Given the description of an element on the screen output the (x, y) to click on. 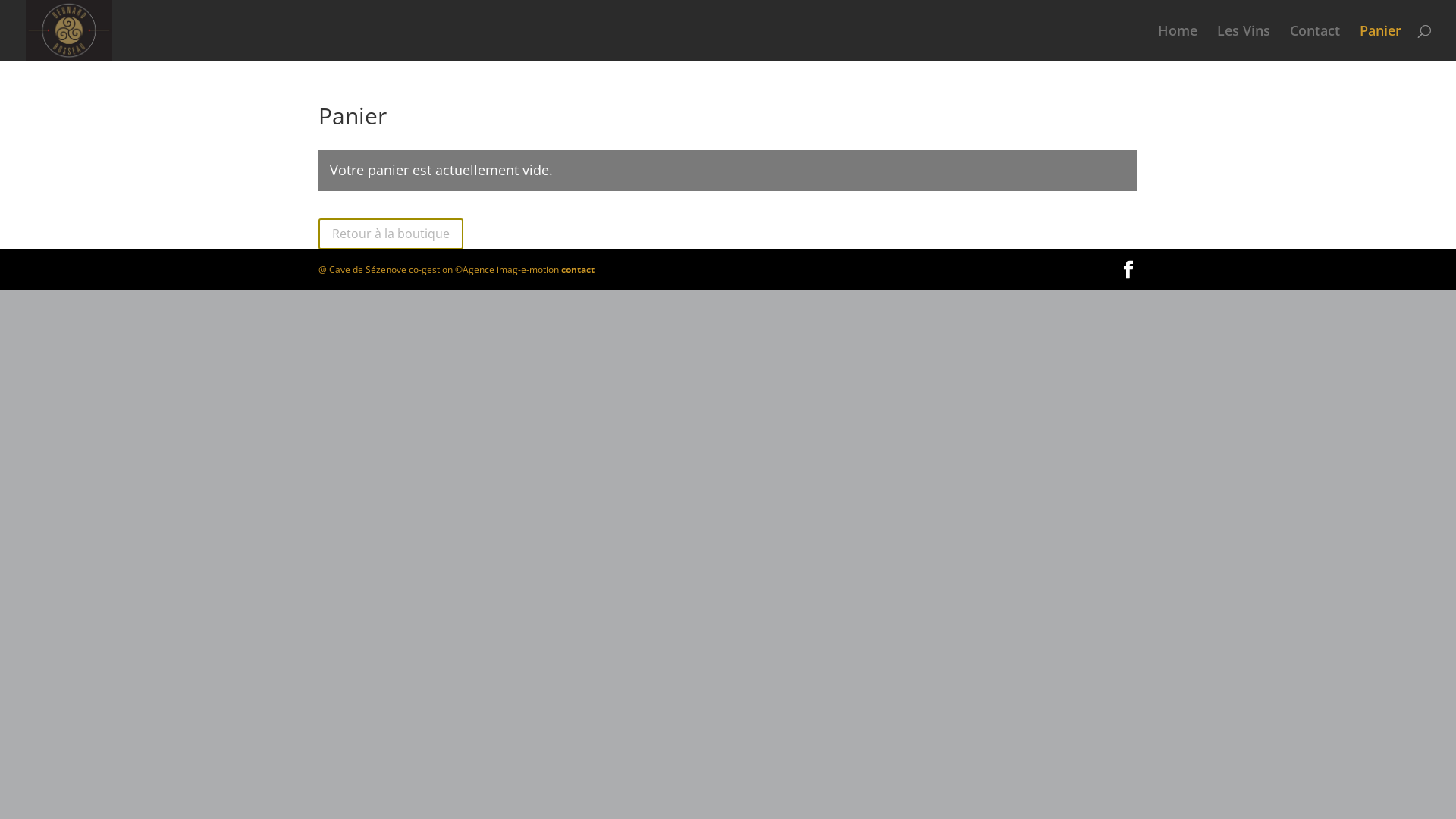
Home Element type: text (1177, 42)
Les Vins Element type: text (1243, 42)
Contact Element type: text (1314, 42)
contact Element type: text (577, 269)
Panier Element type: text (1380, 42)
